Given the description of an element on the screen output the (x, y) to click on. 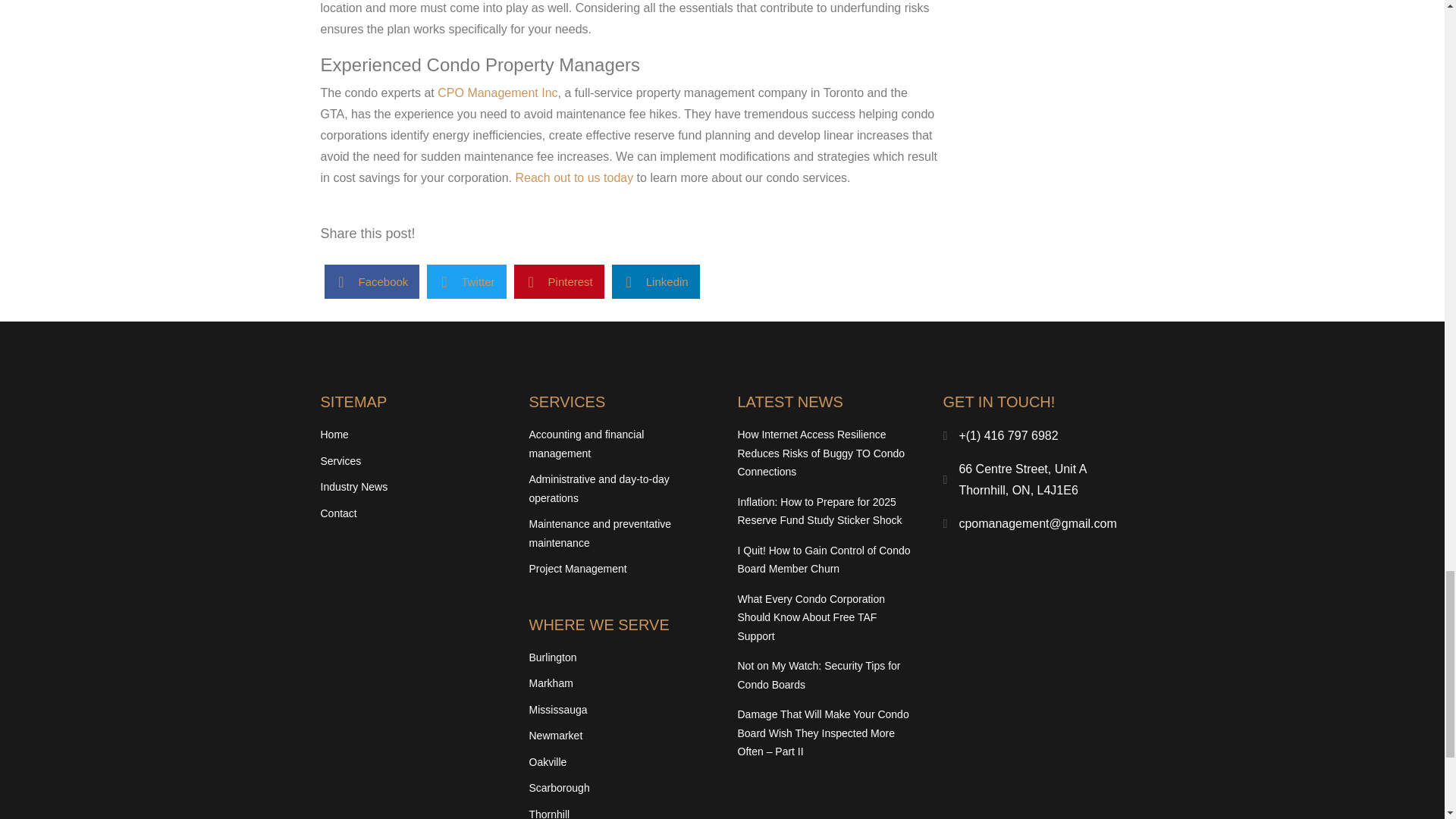
I Quit! How to Gain Control of Condo Board Member Churn (823, 559)
Not on My Watch: Security Tips for Condo Boards (817, 675)
